Given the description of an element on the screen output the (x, y) to click on. 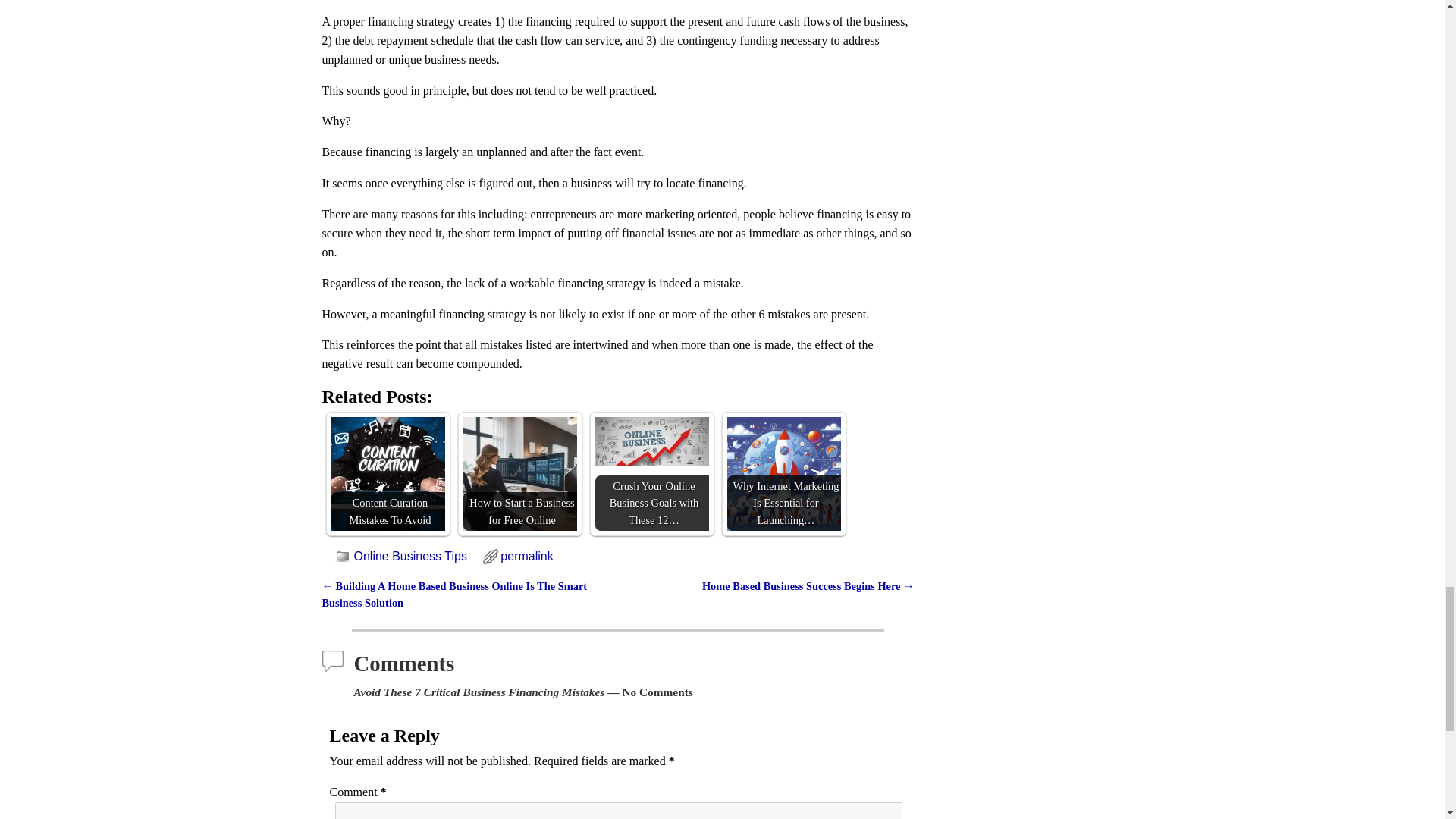
permalink (526, 555)
Online Business Tips (409, 555)
Content Curation Mistakes To Avoid (387, 473)
Content Curation Mistakes To Avoid (387, 473)
How to Start a Business for Free Online (519, 473)
How to Start a Business for Free Online (519, 473)
